Given the description of an element on the screen output the (x, y) to click on. 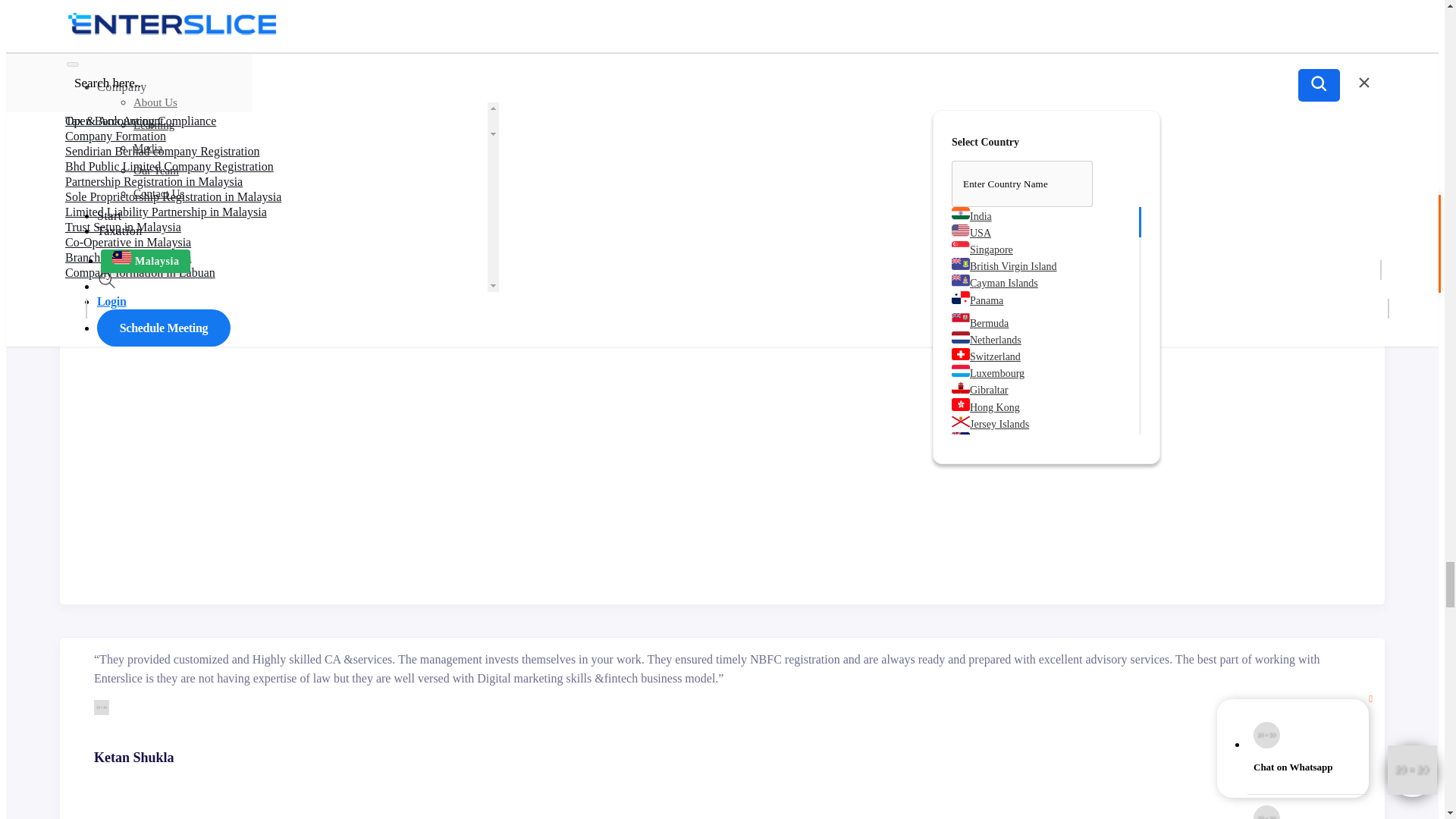
Ketan Shukla (101, 707)
Arun Mahadik (101, 245)
